Given the description of an element on the screen output the (x, y) to click on. 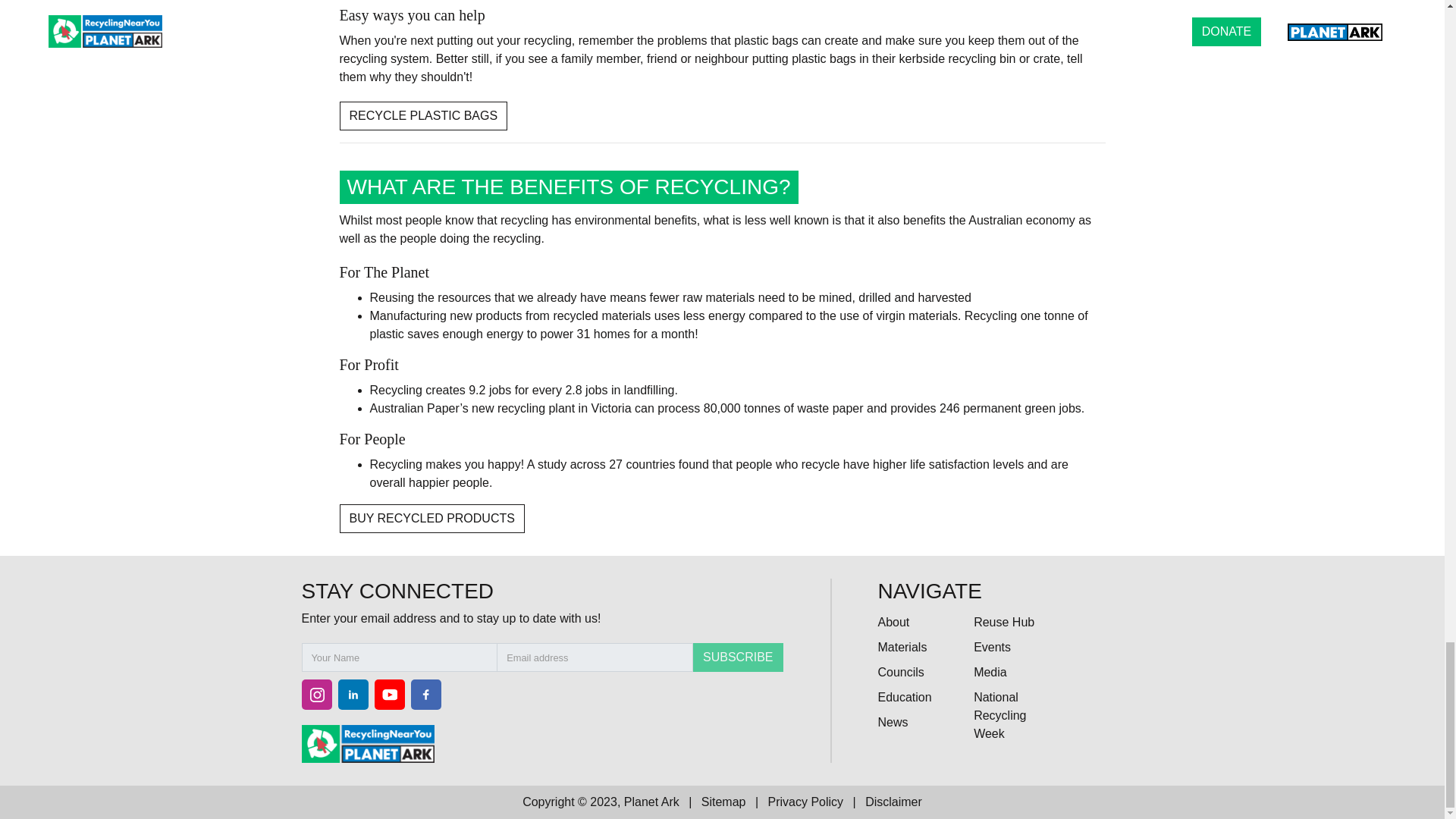
About (892, 621)
RECYCLE PLASTIC BAGS (423, 115)
SUBSCRIBE (738, 656)
Education (904, 697)
Media (990, 671)
Reuse Hub (1003, 621)
Sitemap (723, 801)
Materials (901, 646)
Events (992, 646)
Councils (900, 671)
National Recycling Week (1000, 715)
News (892, 721)
BUY RECYCLED PRODUCTS (431, 518)
